Given the description of an element on the screen output the (x, y) to click on. 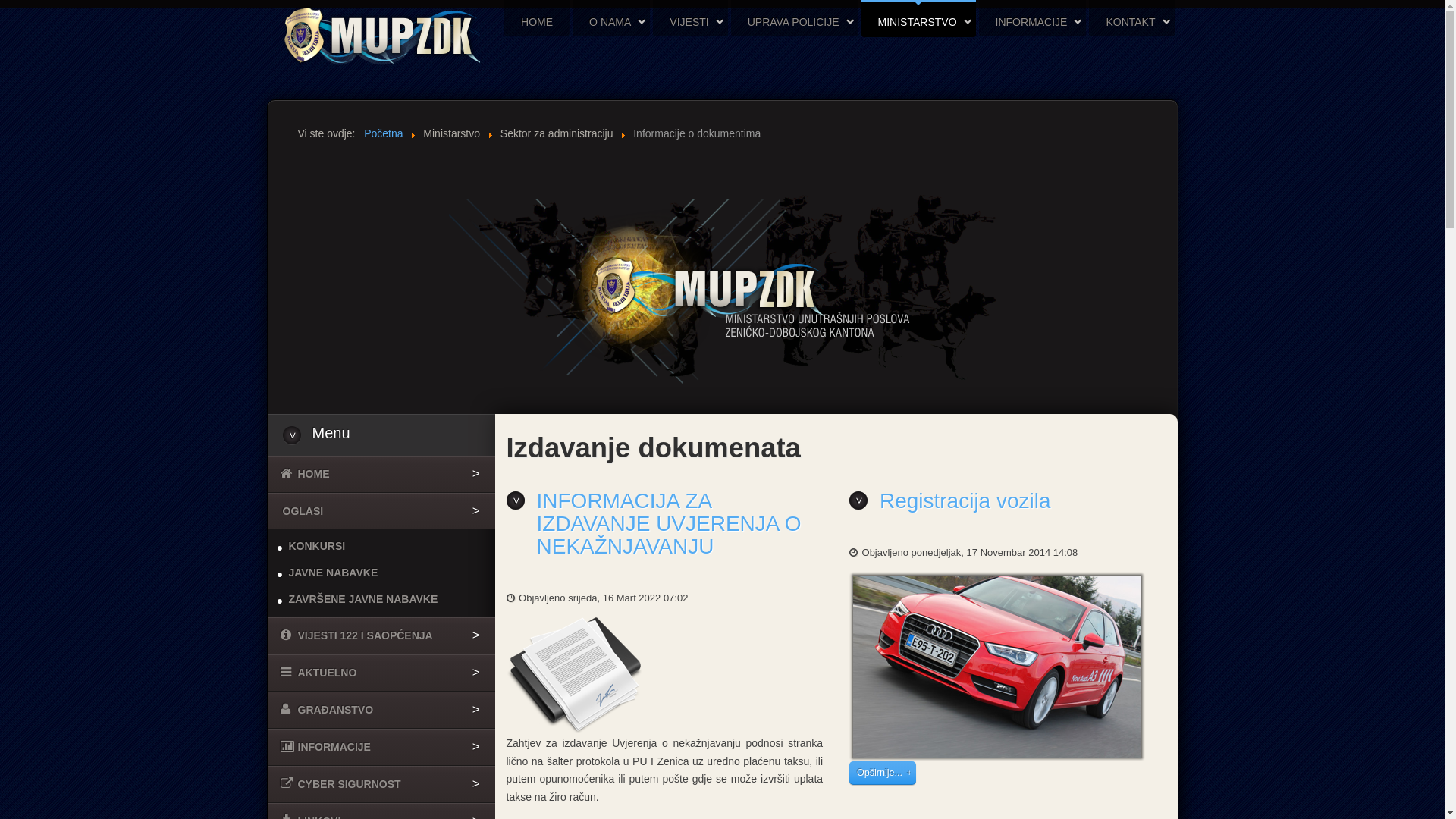
AKTUELNO Element type: text (380, 672)
KONKURSI Element type: text (380, 546)
VIJESTI Element type: text (689, 21)
UPRAVA POLICIJE Element type: text (794, 21)
KONTAKT Element type: text (1130, 21)
HOME Element type: text (536, 21)
O NAMA Element type: text (610, 21)
INFORMACIJE Element type: text (380, 746)
HOME Element type: text (380, 473)
CYBER SIGURNOST Element type: text (380, 783)
INFORMACIJE Element type: text (1032, 21)
MINISTARSTVO Element type: text (918, 21)
Registracija vozila Element type: text (965, 500)
JAVNE NABAVKE Element type: text (380, 572)
